Given the description of an element on the screen output the (x, y) to click on. 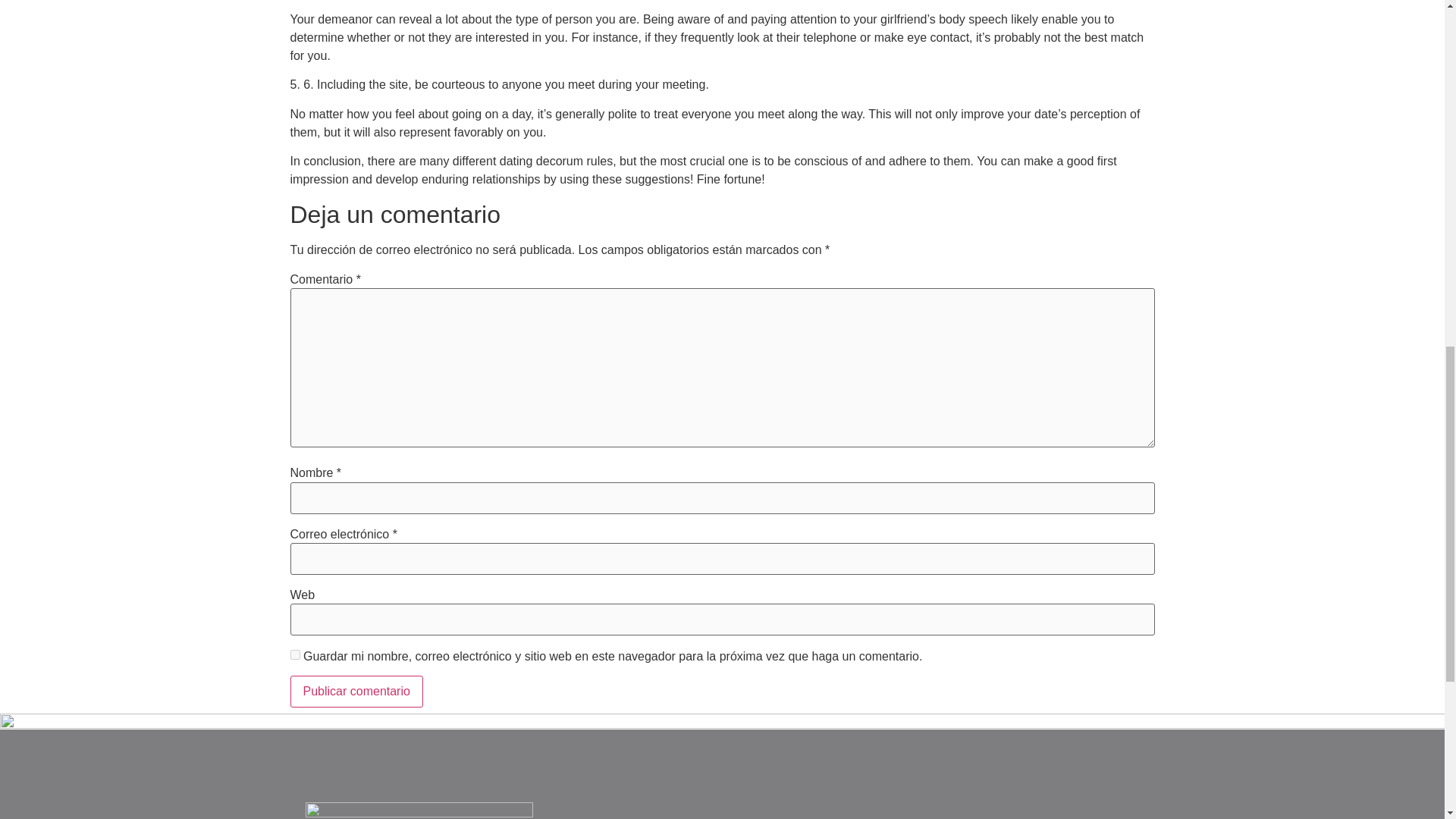
yes (294, 655)
Publicar comentario (355, 691)
Publicar comentario (355, 691)
